Given the description of an element on the screen output the (x, y) to click on. 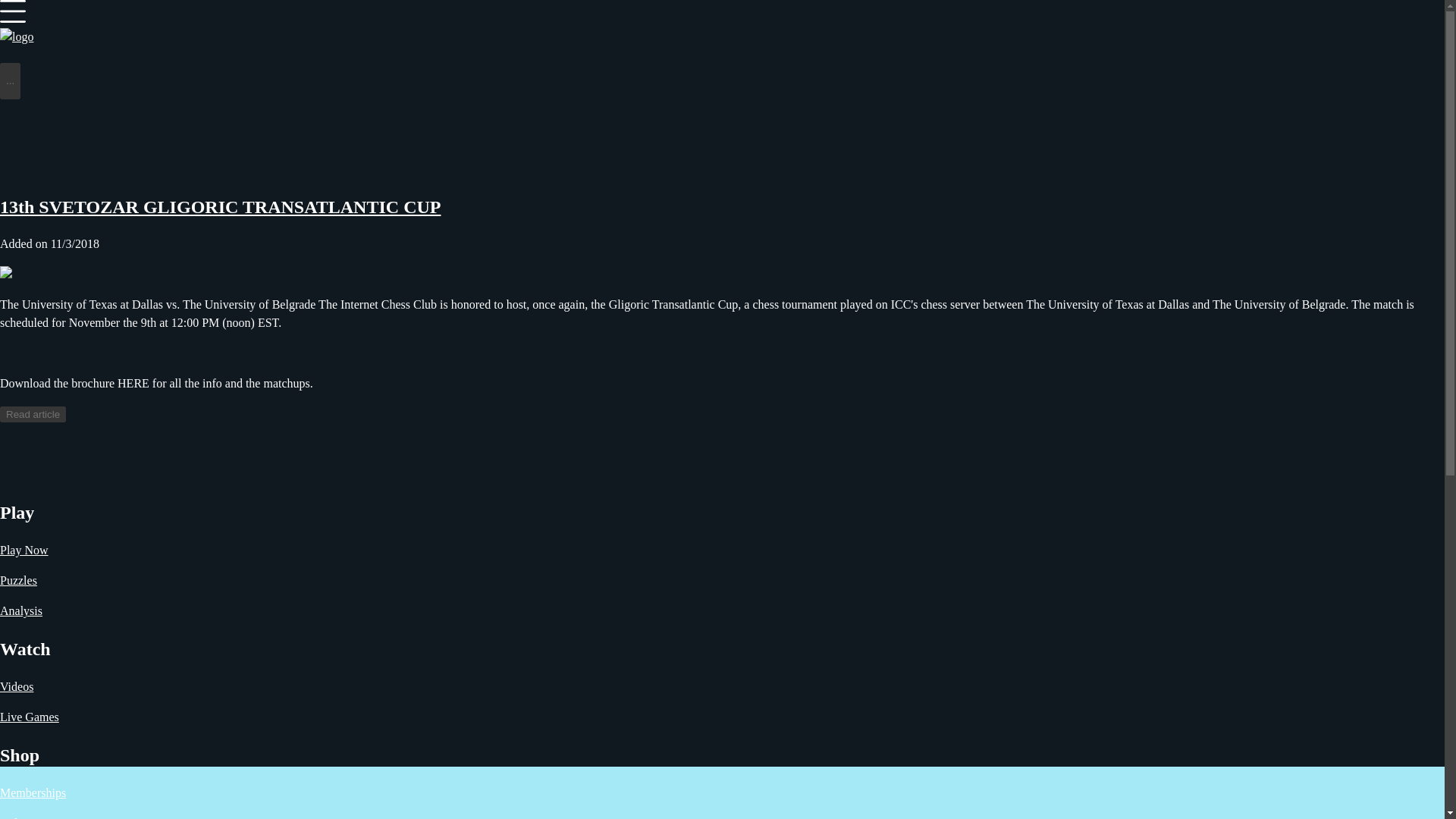
Live Games (29, 716)
Videos (16, 686)
Analysis (21, 610)
Memberships (32, 792)
Play Now (24, 549)
Videos (16, 817)
13th SVETOZAR GLIGORIC TRANSATLANTIC CUP (220, 207)
Read article (32, 414)
Puzzles (18, 580)
